Given the description of an element on the screen output the (x, y) to click on. 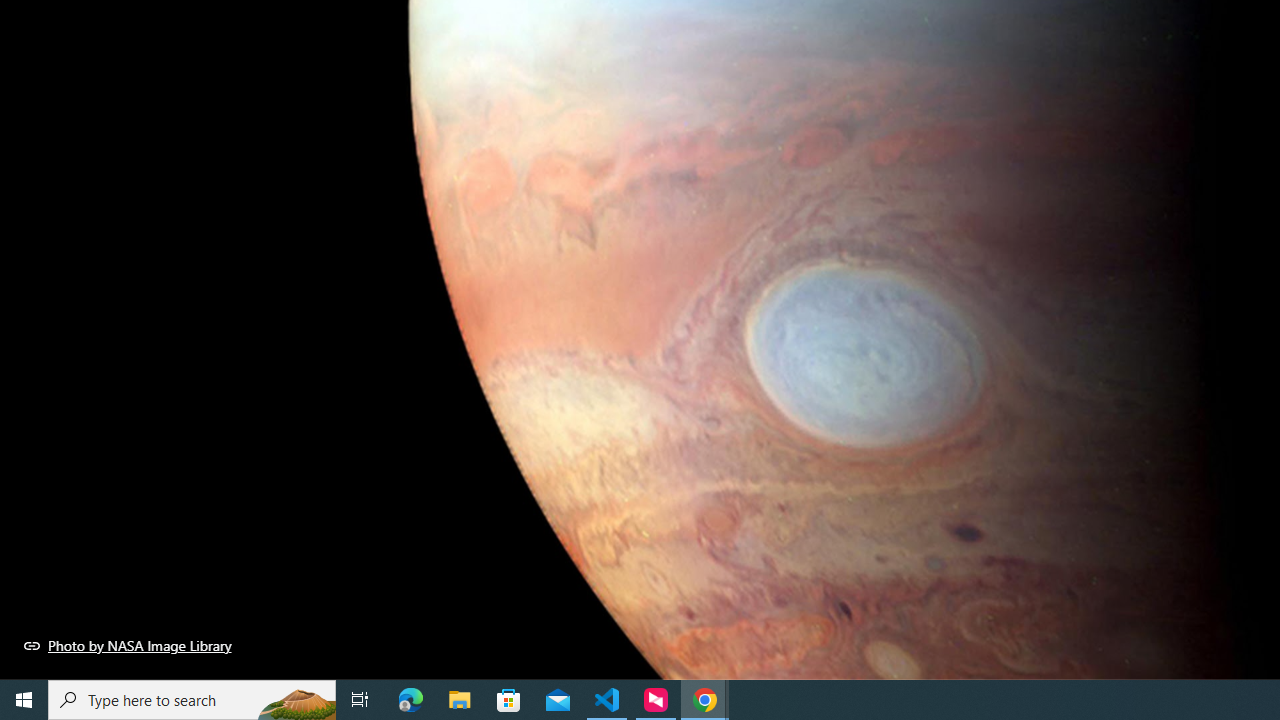
Photo by NASA Image Library (127, 645)
